Given the description of an element on the screen output the (x, y) to click on. 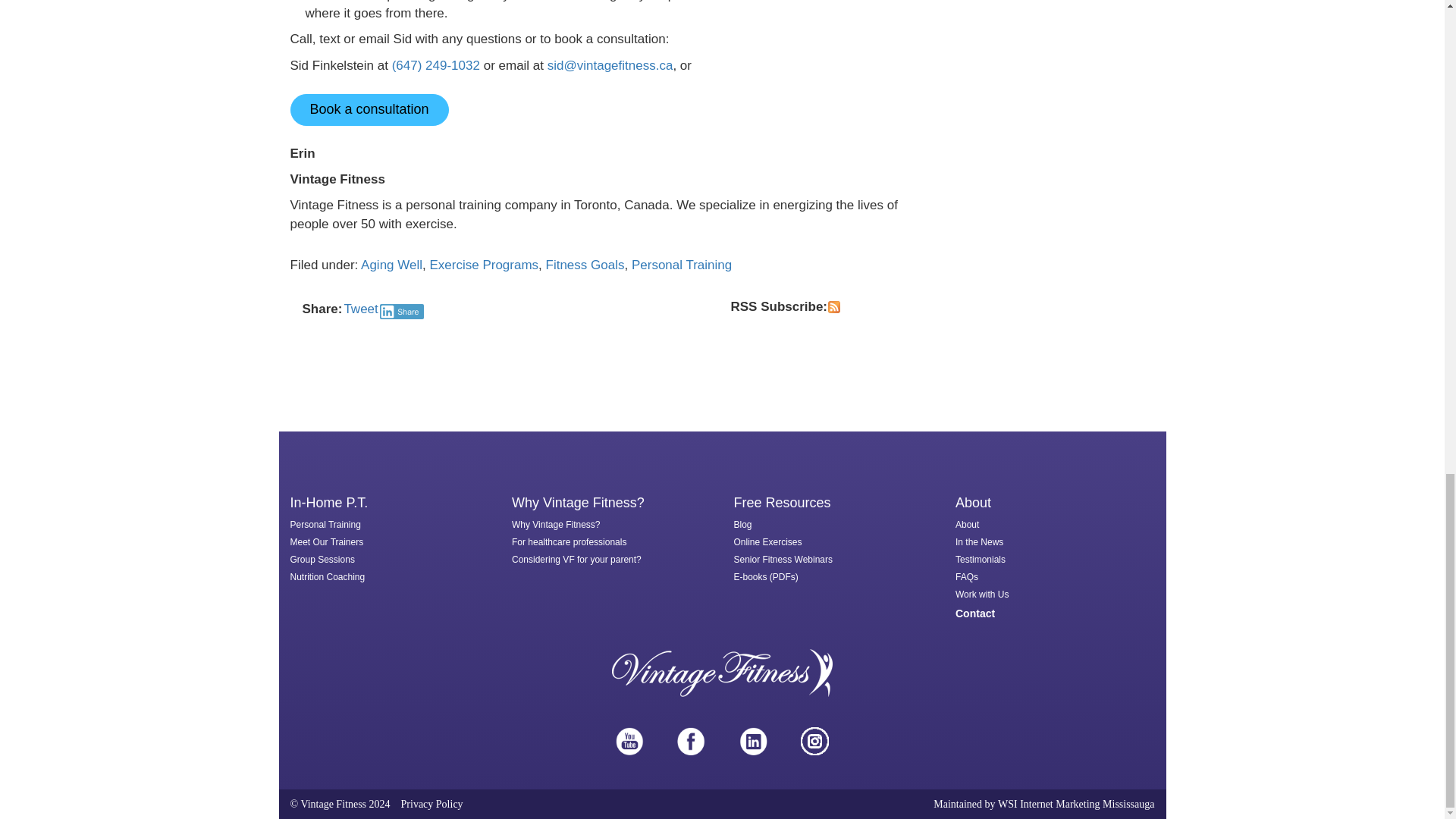
Join us on Instagram (814, 741)
Exercise Programs (483, 264)
Tweet (360, 309)
Follow us on Facebook (690, 741)
Personal Training (681, 264)
Book a free consultation (368, 110)
Book a consultation (368, 110)
Find us on LinkedIn (753, 741)
Watch us on Youtube (629, 741)
Fitness Goals (585, 264)
Aging Well (391, 264)
Share (402, 311)
